Given the description of an element on the screen output the (x, y) to click on. 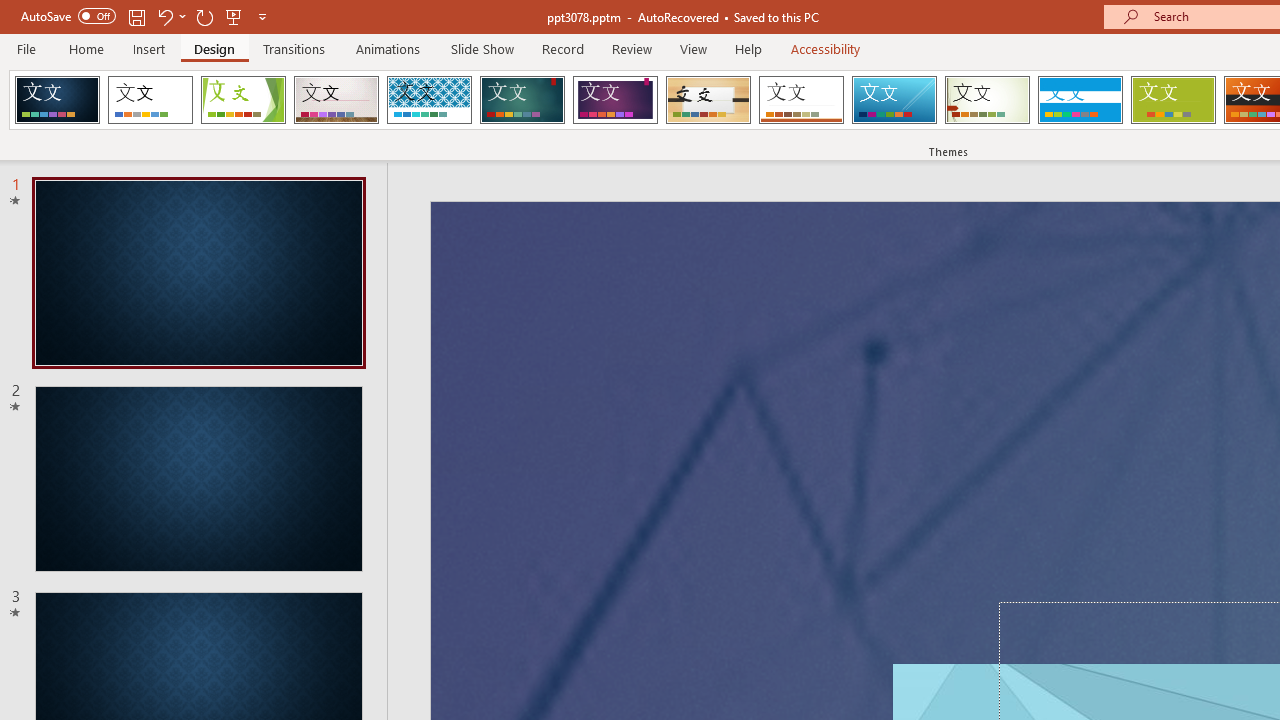
Ion (522, 100)
Basis (1172, 100)
Organic (708, 100)
Slice (893, 100)
Integral (429, 100)
Facet (243, 100)
Wisp (987, 100)
